Given the description of an element on the screen output the (x, y) to click on. 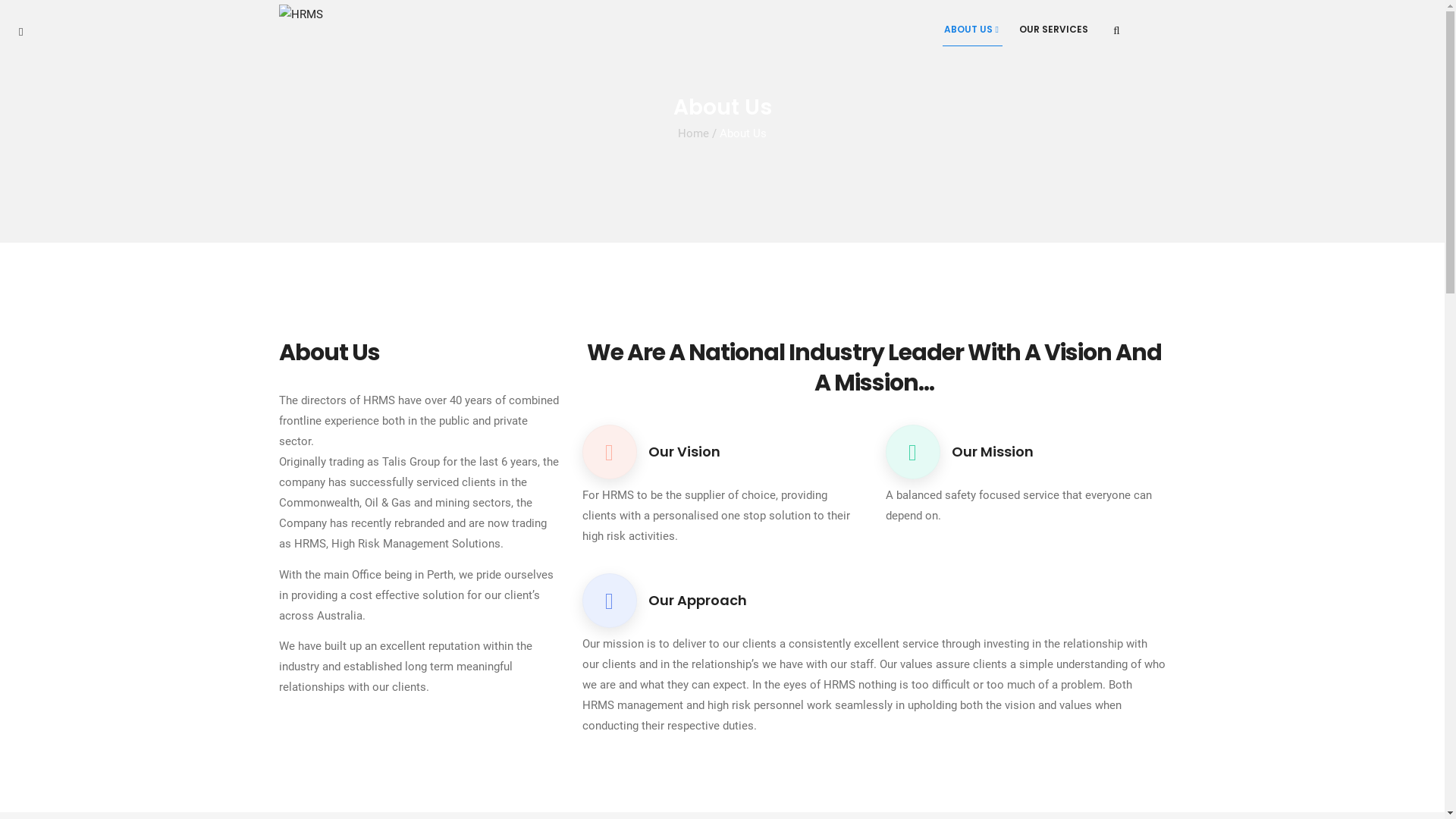
Home Element type: text (693, 132)
ABOUT US Element type: text (972, 28)
OUR SERVICES Element type: text (1053, 28)
